Given the description of an element on the screen output the (x, y) to click on. 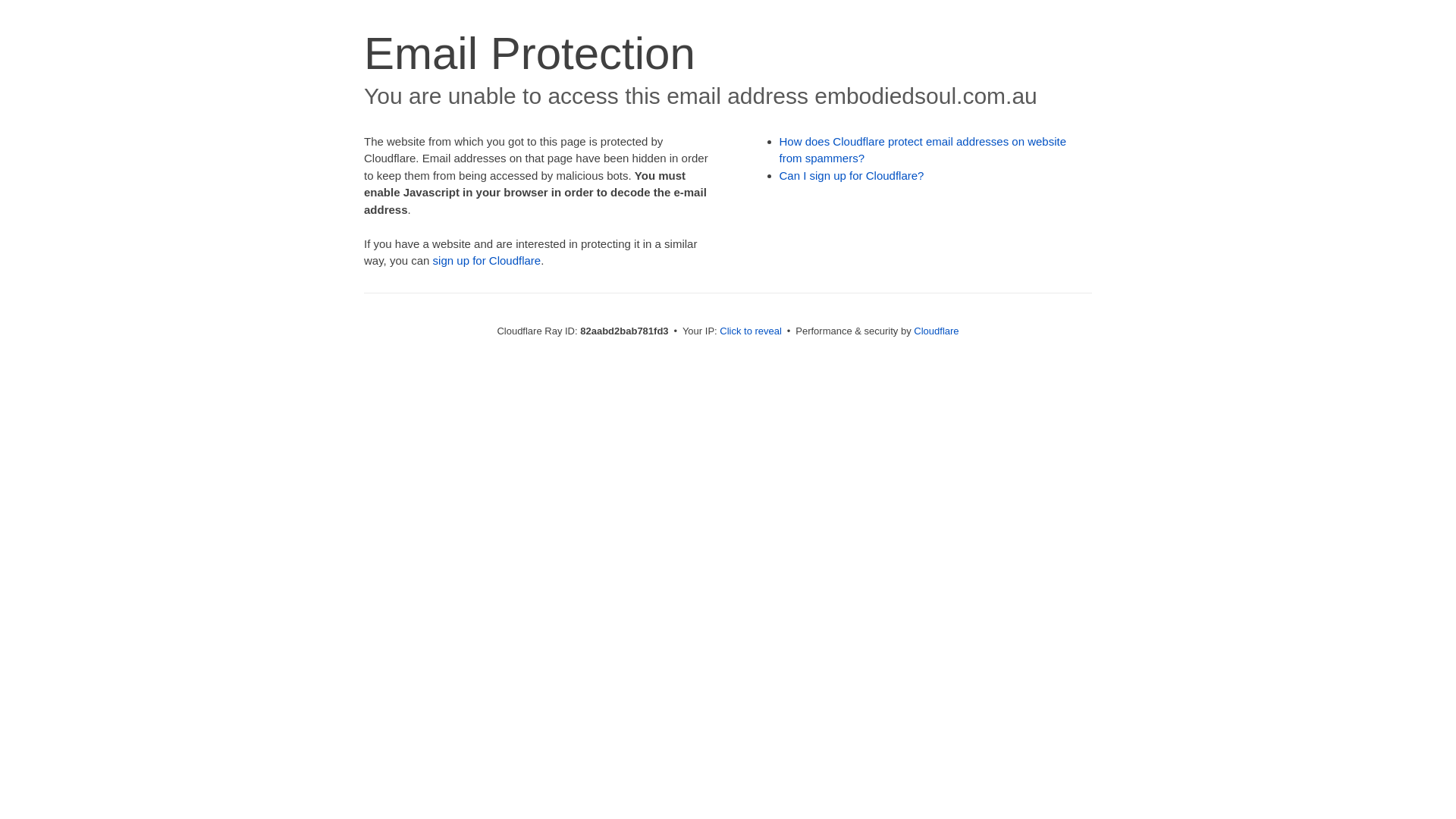
Click to reveal Element type: text (750, 330)
Cloudflare Element type: text (935, 330)
Can I sign up for Cloudflare? Element type: text (851, 175)
sign up for Cloudflare Element type: text (487, 260)
